Given the description of an element on the screen output the (x, y) to click on. 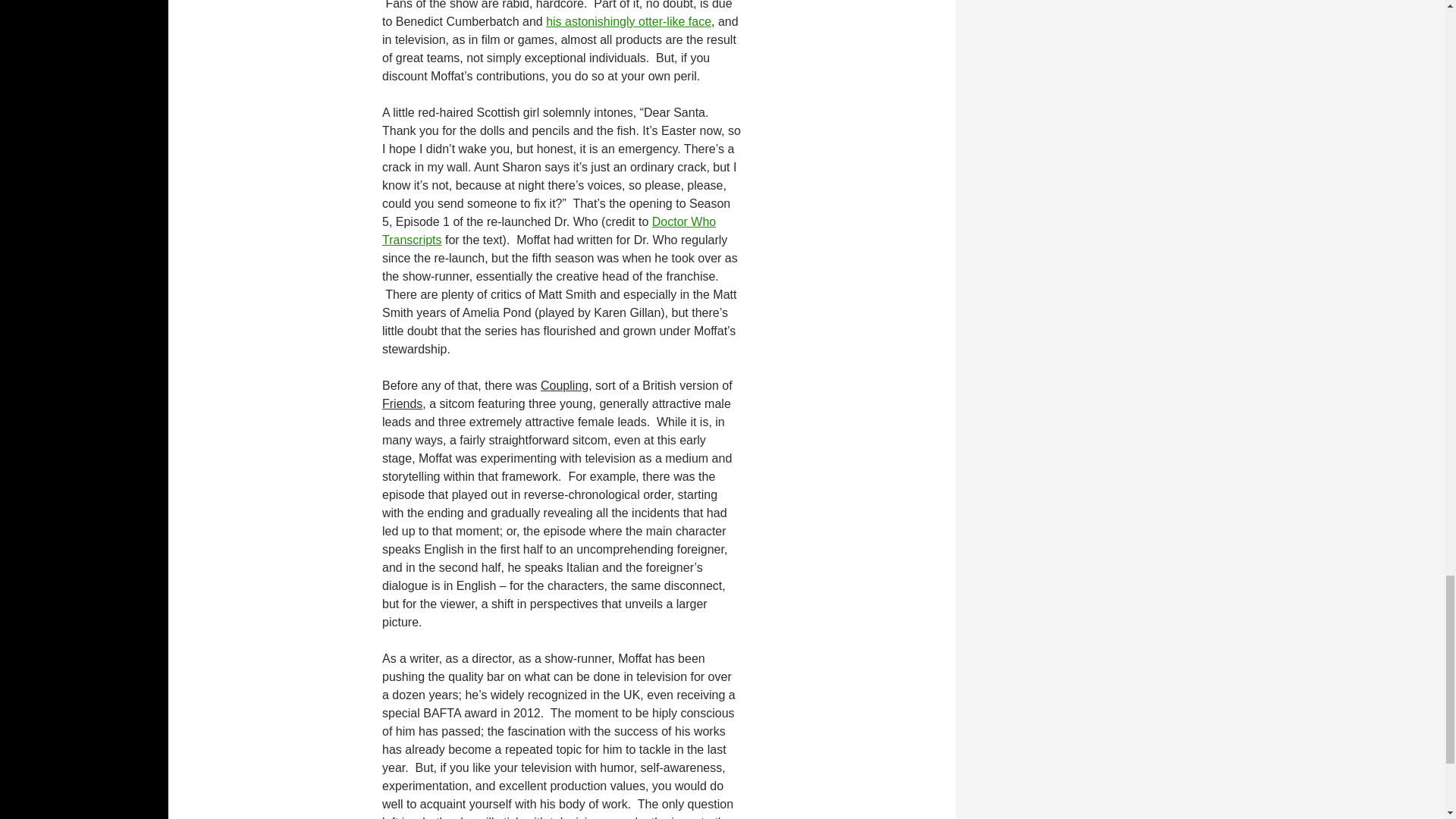
his astonishingly otter-like face (628, 21)
Doctor Who Transcripts (548, 230)
